Given the description of an element on the screen output the (x, y) to click on. 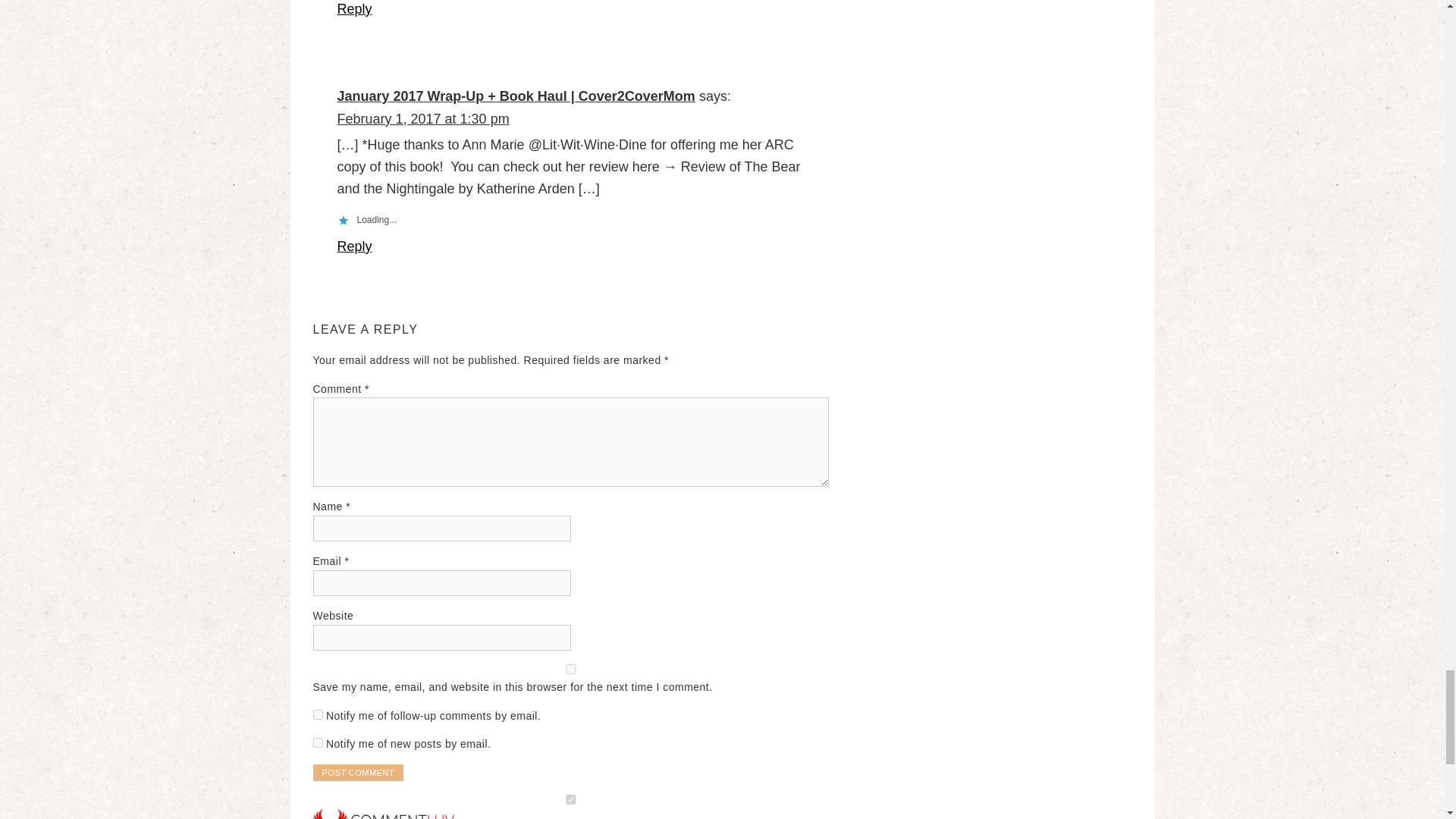
subscribe (317, 742)
subscribe (317, 714)
on (570, 799)
yes (570, 669)
Post Comment (358, 772)
